Given the description of an element on the screen output the (x, y) to click on. 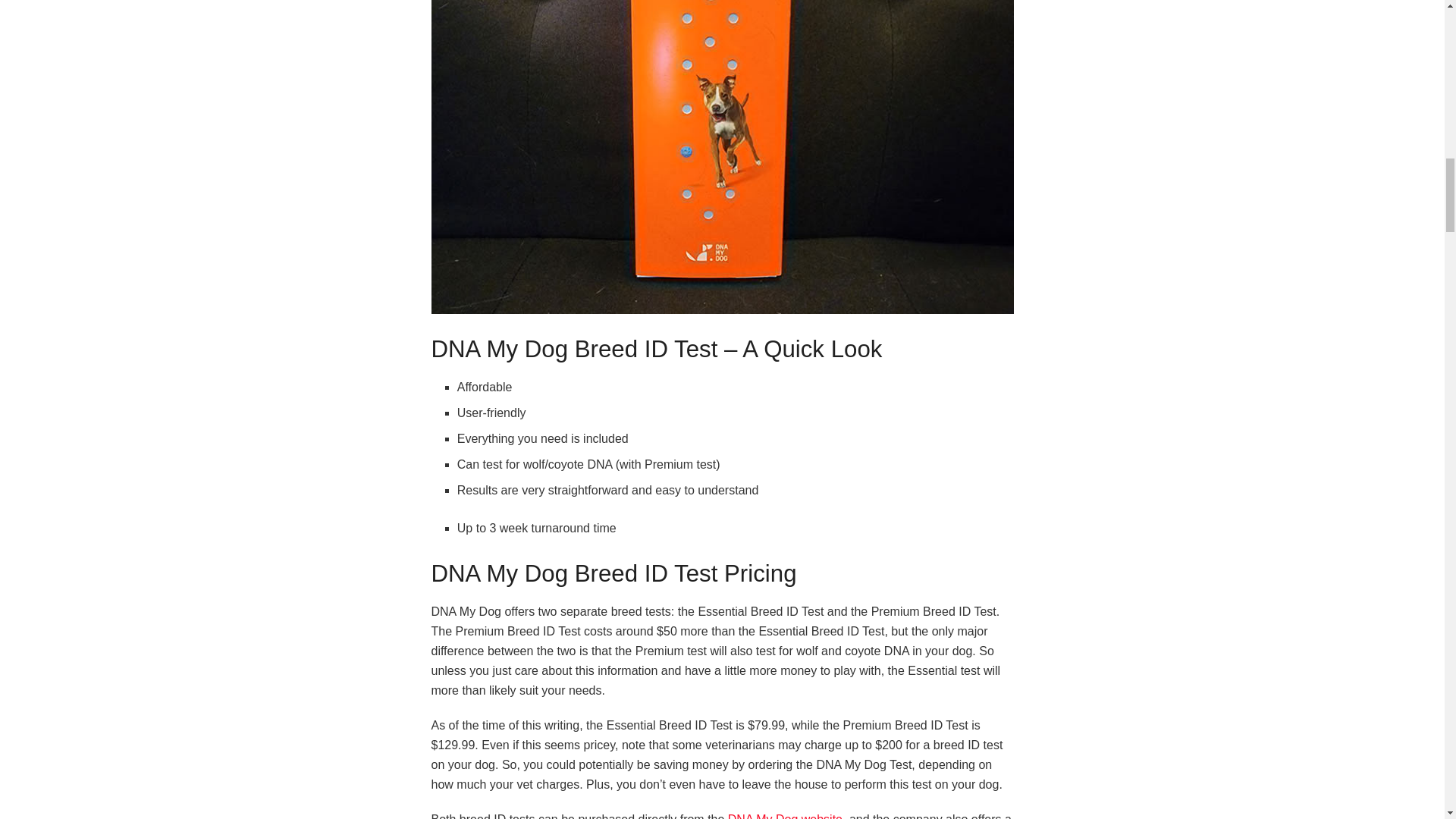
DNA My Dog website (785, 816)
